Given the description of an element on the screen output the (x, y) to click on. 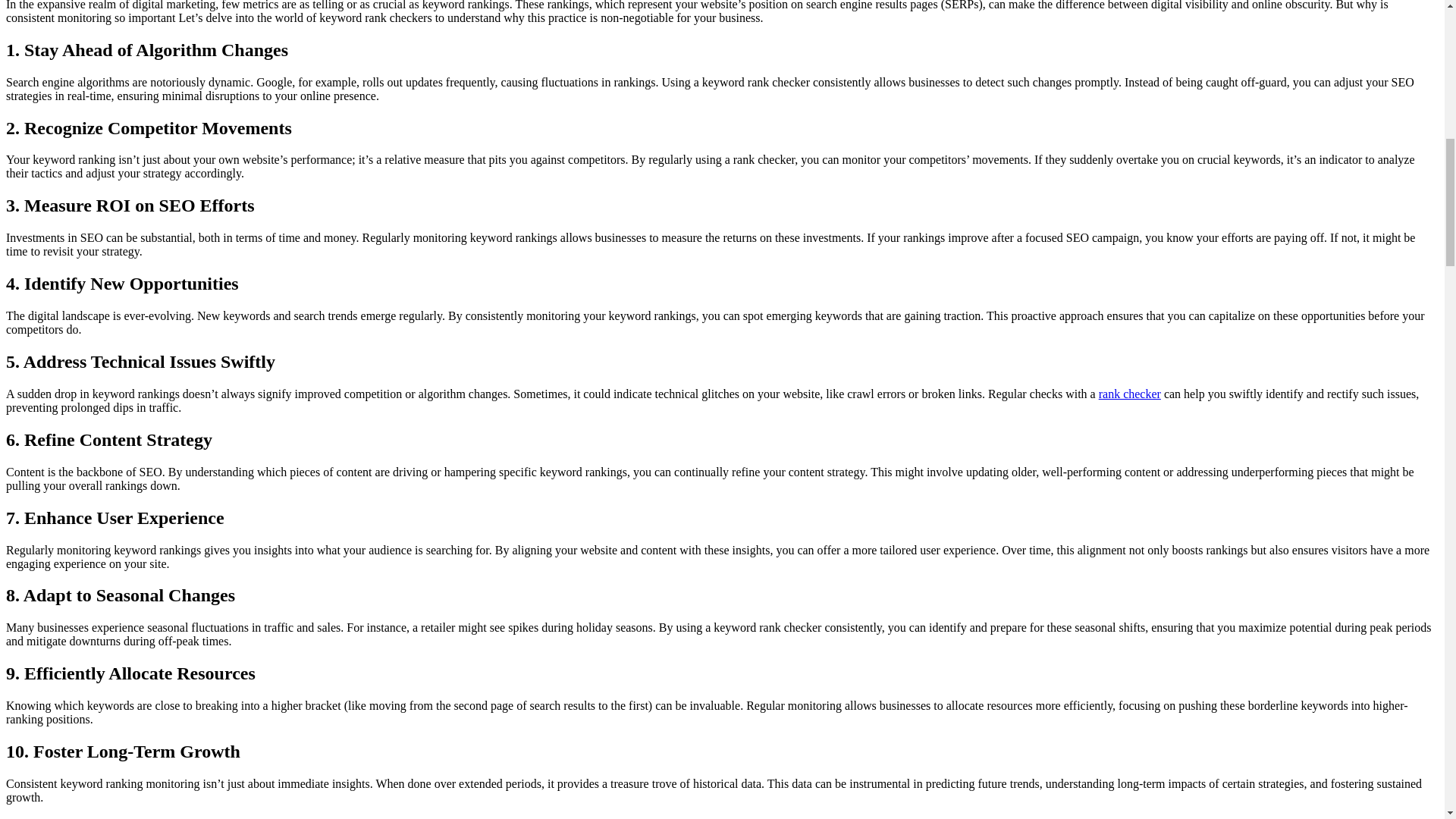
rank checker (1129, 393)
